Given the description of an element on the screen output the (x, y) to click on. 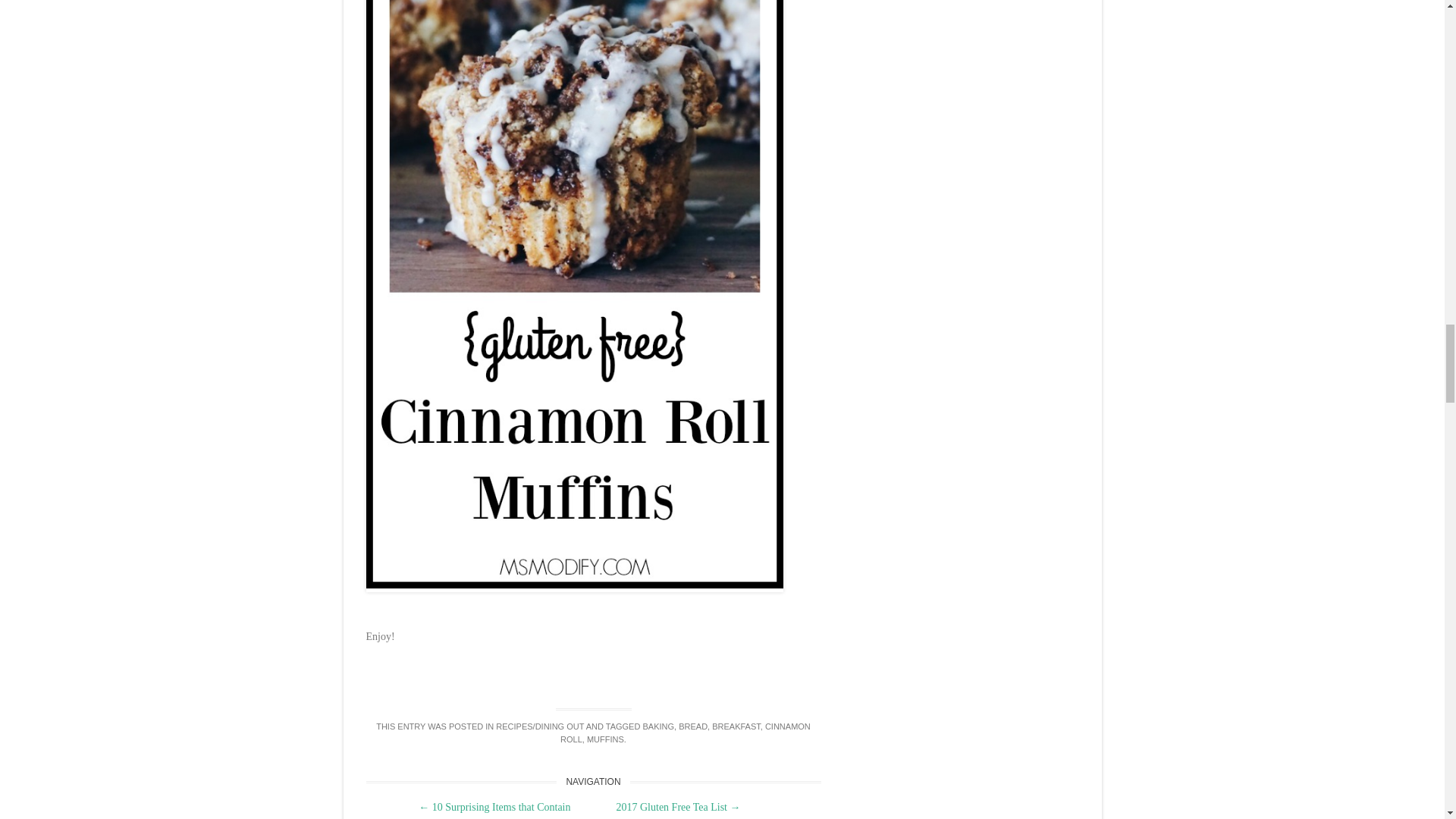
BREAD (692, 726)
BAKING (658, 726)
BREAKFAST (735, 726)
MUFFINS (605, 738)
CINNAMON ROLL (685, 732)
